Given the description of an element on the screen output the (x, y) to click on. 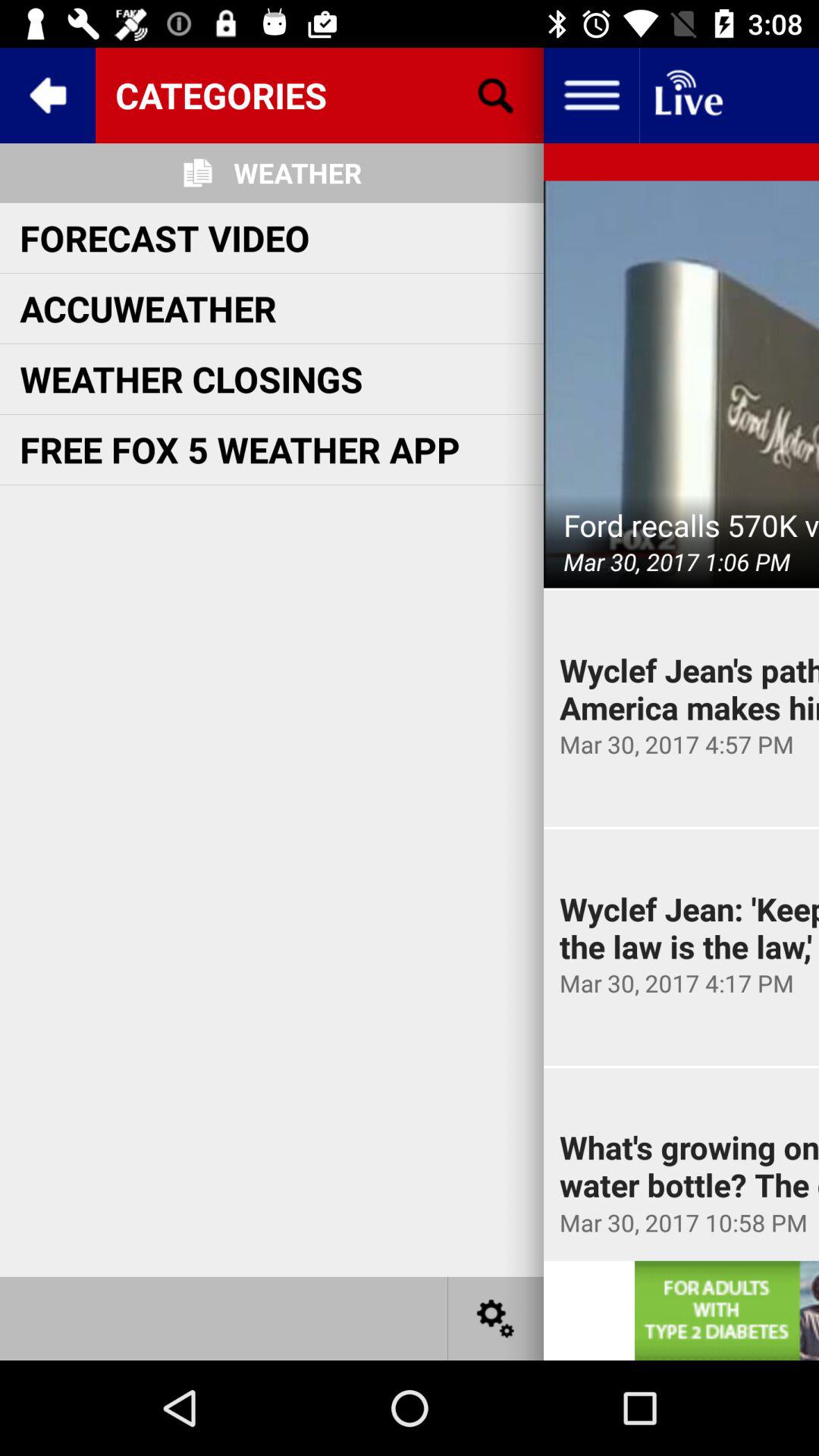
open advertisement (726, 1310)
